Given the description of an element on the screen output the (x, y) to click on. 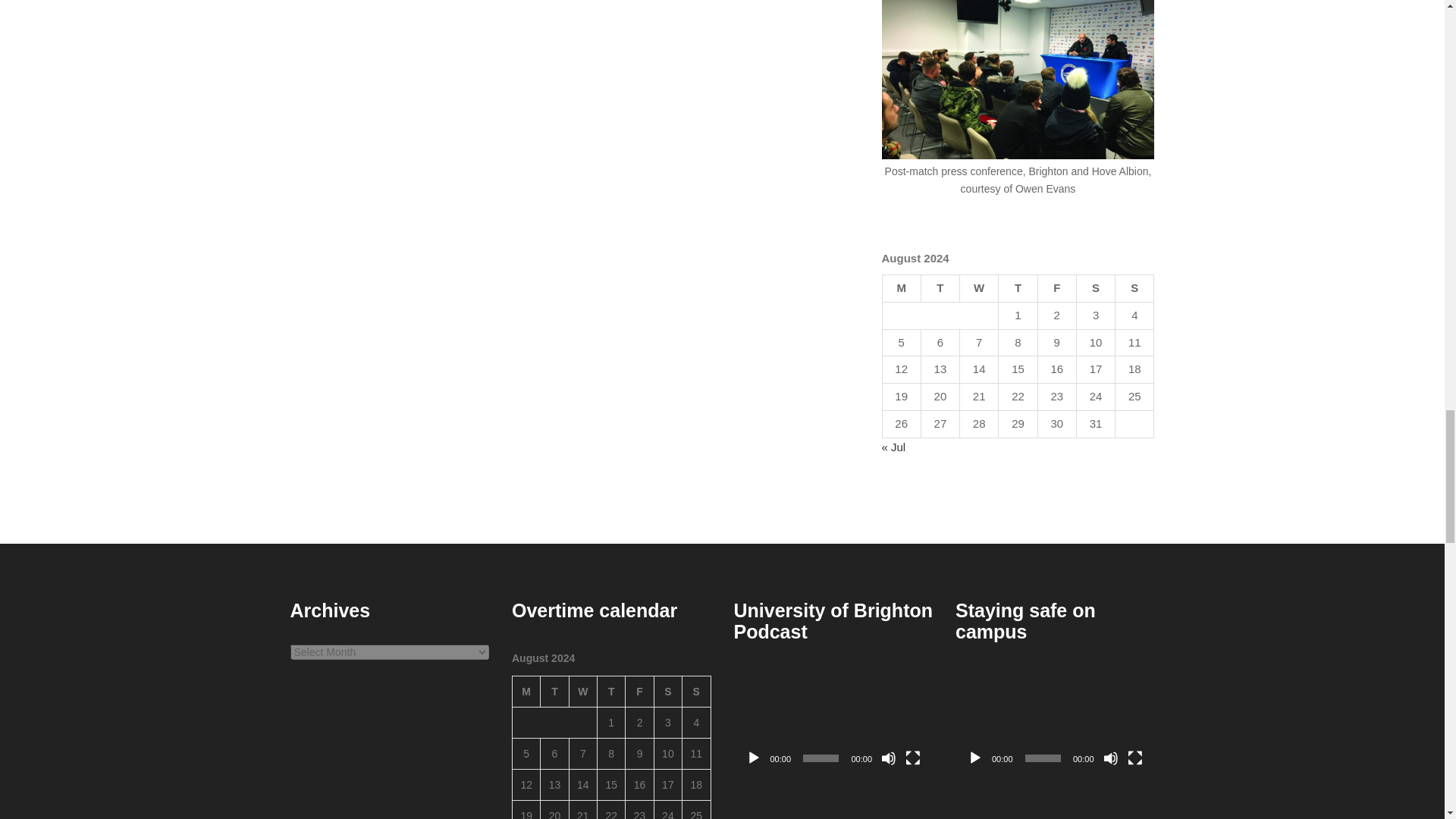
Saturday (667, 690)
Saturday (1095, 288)
Tuesday (554, 690)
Sunday (1134, 288)
Mute (888, 758)
Sunday (696, 690)
Monday (526, 690)
Thursday (1017, 288)
Thursday (611, 690)
Monday (901, 288)
